Given the description of an element on the screen output the (x, y) to click on. 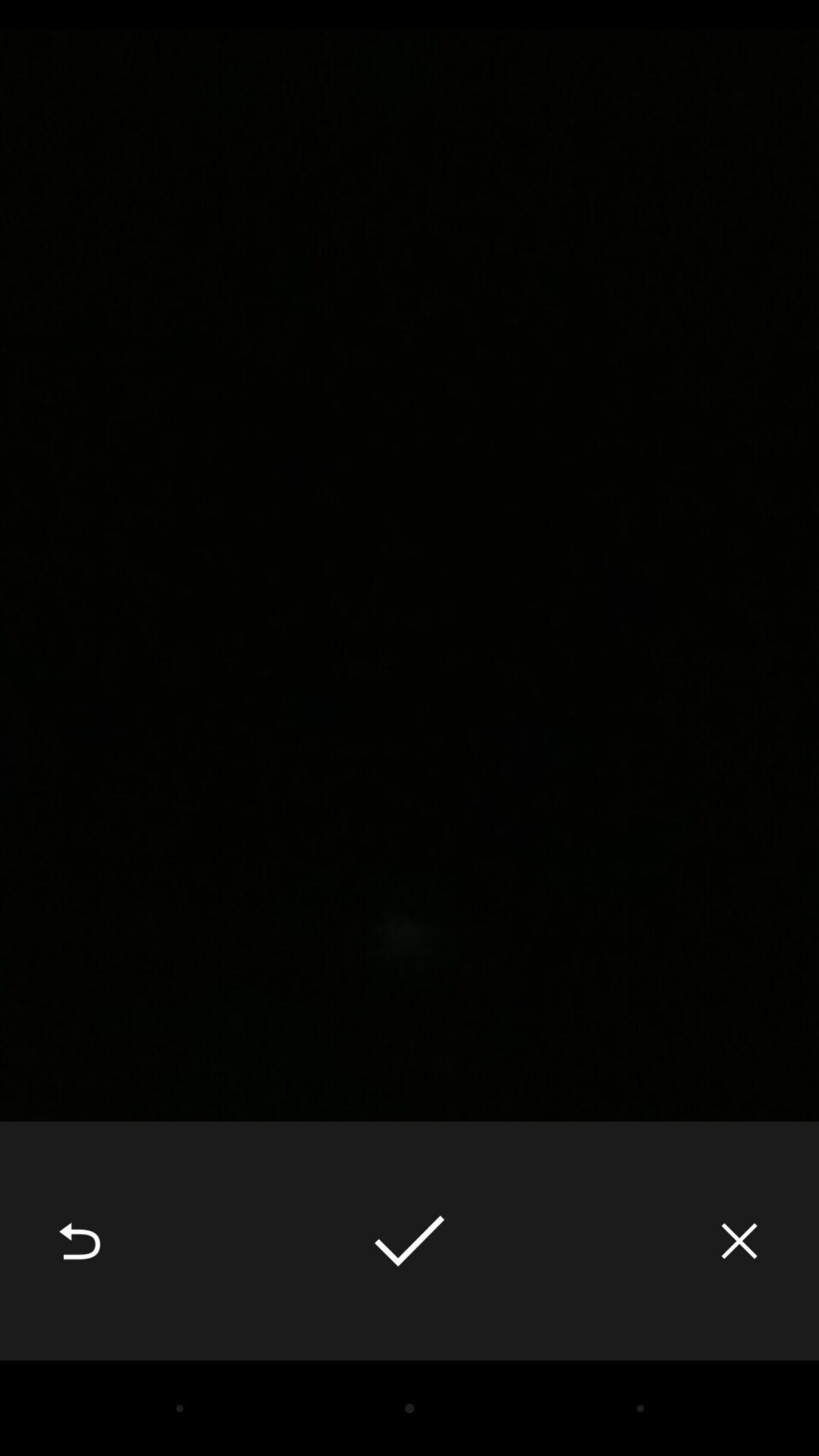
press icon at the bottom right corner (739, 1240)
